Given the description of an element on the screen output the (x, y) to click on. 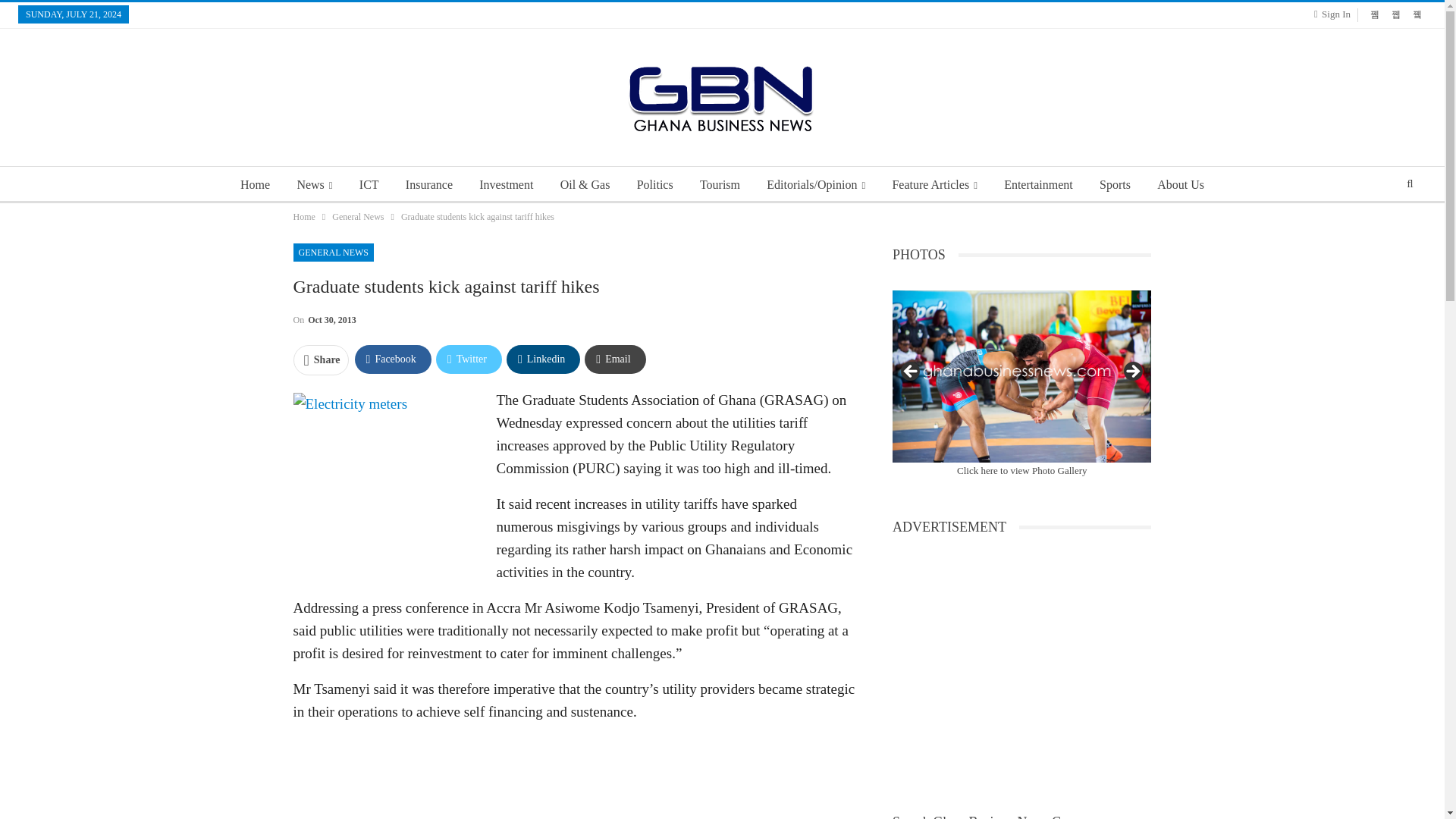
Home (303, 216)
About Us (1180, 185)
13th-African-games-129 (1021, 376)
Insurance (428, 185)
Linkedin (542, 358)
ICT (369, 185)
Email (615, 358)
Sign In (1335, 13)
News (313, 185)
GENERAL NEWS (333, 252)
General News (357, 216)
Advertisement (574, 777)
Entertainment (1037, 185)
Investment (505, 185)
Facebook (392, 358)
